Given the description of an element on the screen output the (x, y) to click on. 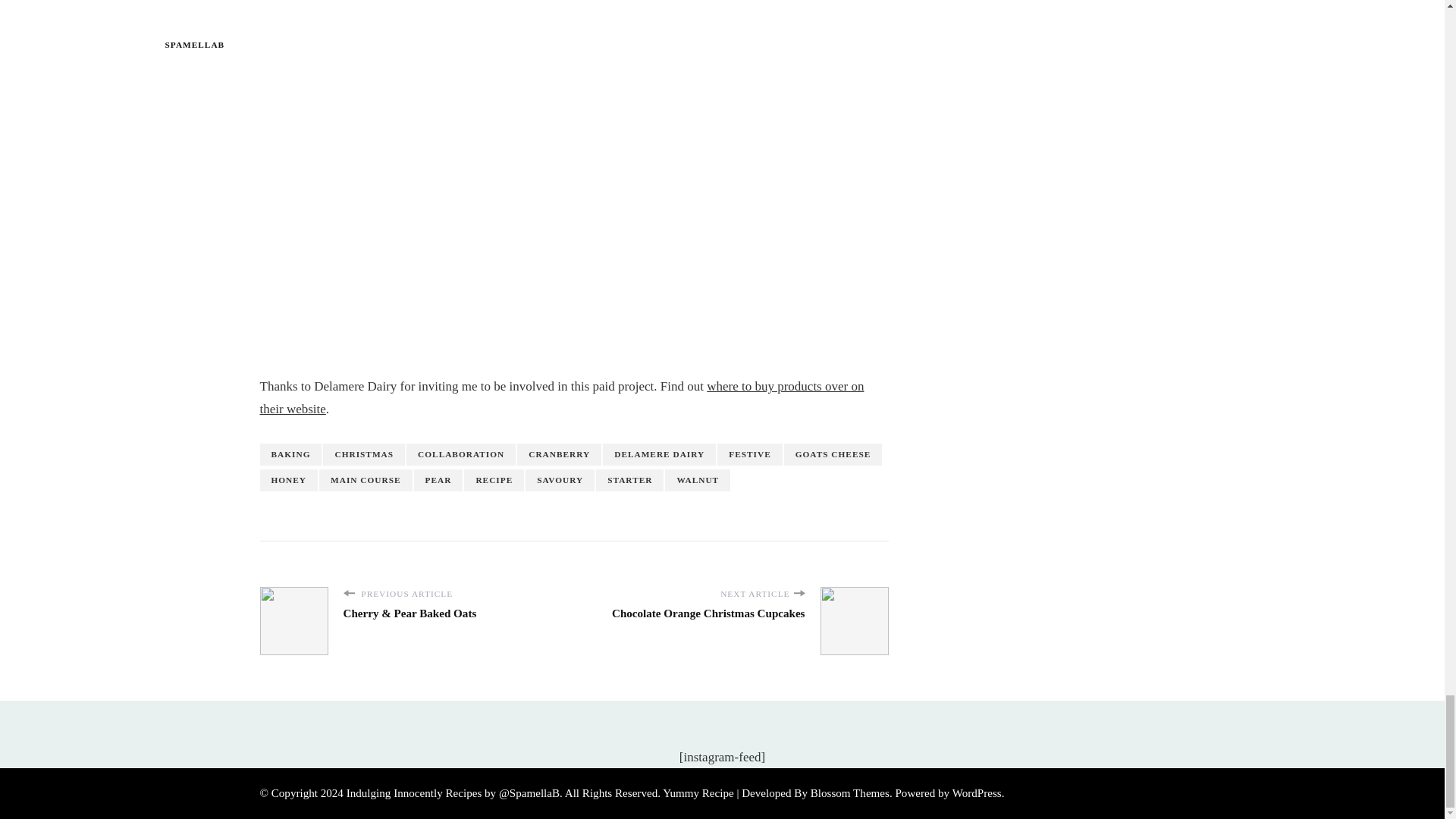
WALNUT (697, 480)
HONEY (288, 480)
SAVOURY (559, 480)
STARTER (629, 480)
MAIN COURSE (365, 480)
FESTIVE (749, 454)
CHRISTMAS (363, 454)
where to buy products over on their website (561, 397)
CRANBERRY (558, 454)
BAKING (290, 454)
